Given the description of an element on the screen output the (x, y) to click on. 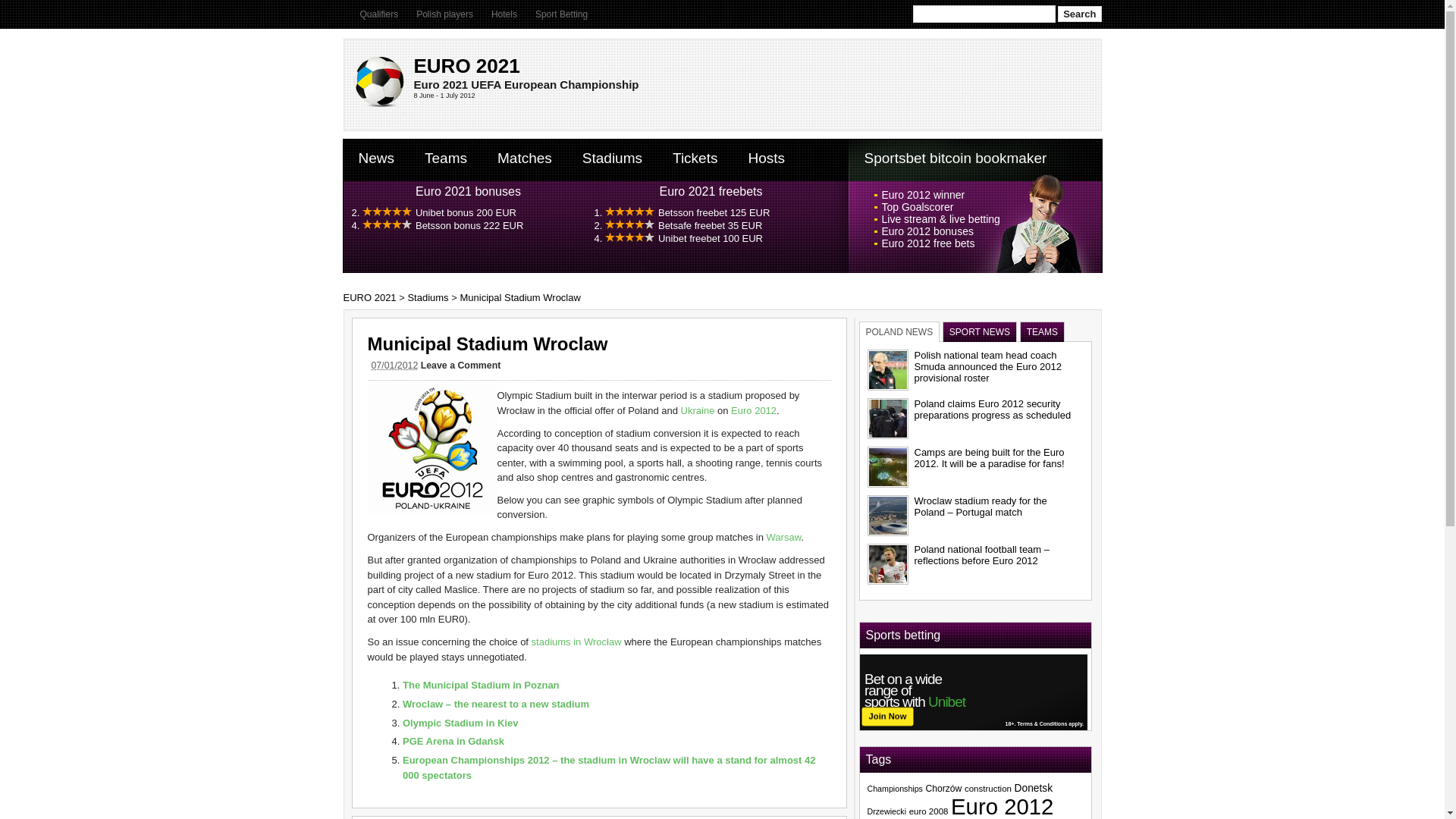
Hotels (503, 14)
Hosts (765, 158)
Sportsbet bitcoin bookmaker (955, 158)
Polish players (444, 14)
undefined (709, 225)
Sport Betting (561, 14)
Warsaw (784, 536)
Unibet freebet 100 EUR (710, 238)
Go to EURO 2021. (369, 297)
Betsson freebet 125 EUR (714, 212)
Go to Municipal Stadium Wroclaw. (519, 297)
EURO 2021 (369, 297)
undefined (465, 212)
Stadiums (612, 158)
Qualifiers (378, 14)
